Given the description of an element on the screen output the (x, y) to click on. 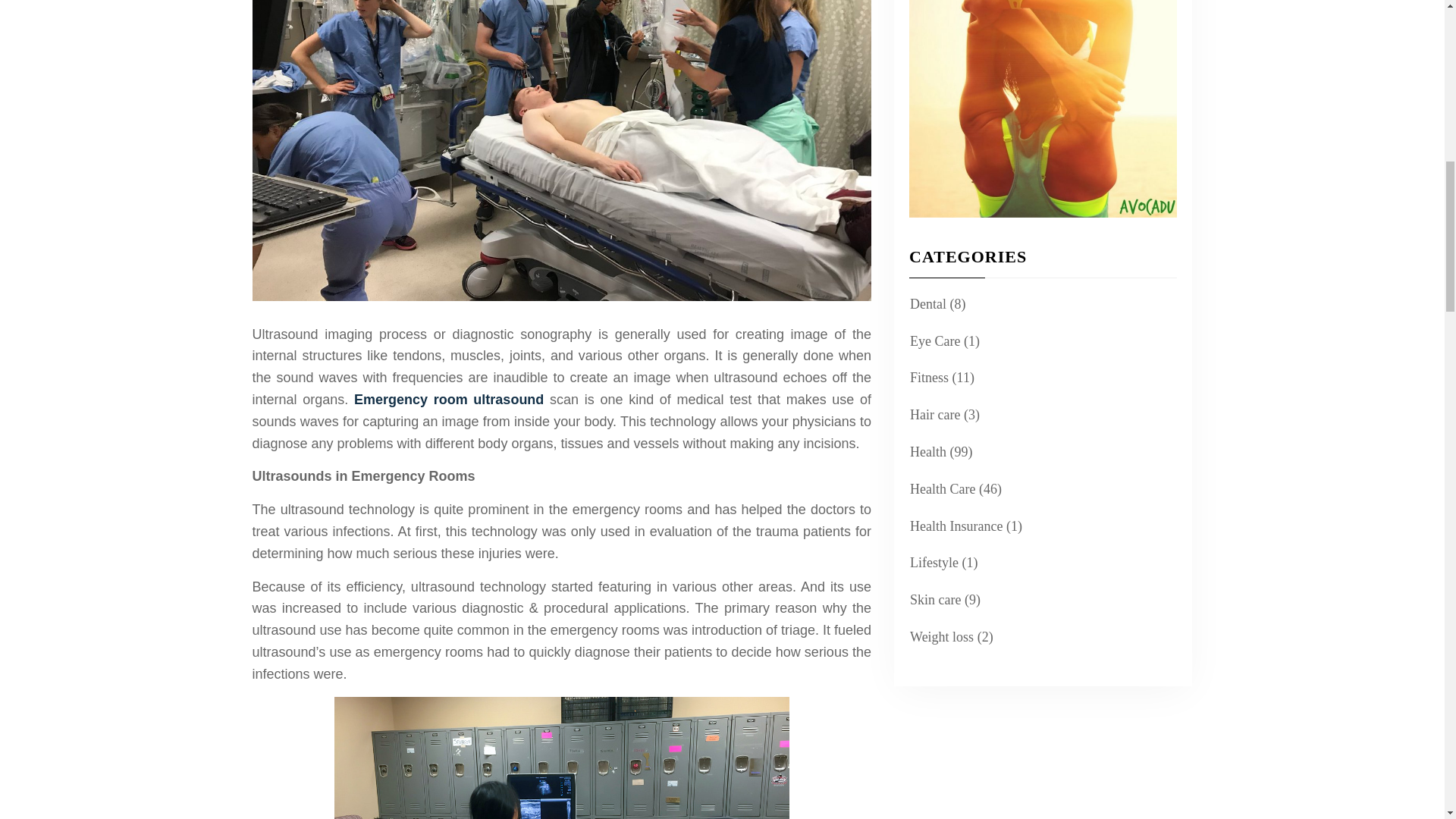
Emergency room ultrasound (448, 399)
